Given the description of an element on the screen output the (x, y) to click on. 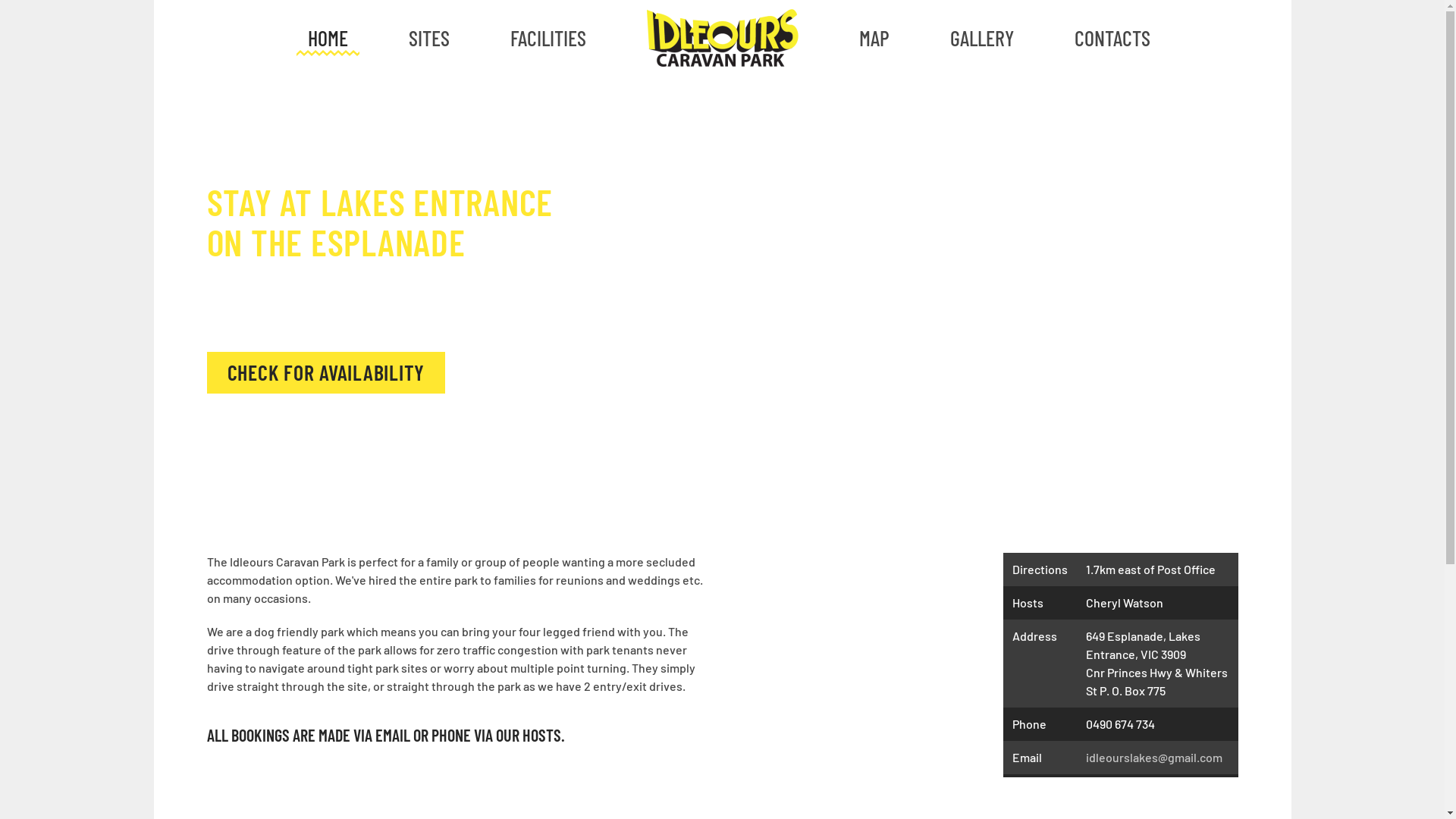
CONTACTS Element type: text (1111, 37)
FACILITIES Element type: text (547, 37)
GALLERY Element type: text (981, 37)
SITES Element type: text (428, 37)
CHECK FOR AVAILABILITY Element type: text (325, 372)
MAP Element type: text (873, 37)
idleourslakes@gmail.com Element type: text (1153, 756)
HOME Element type: text (327, 37)
